Given the description of an element on the screen output the (x, y) to click on. 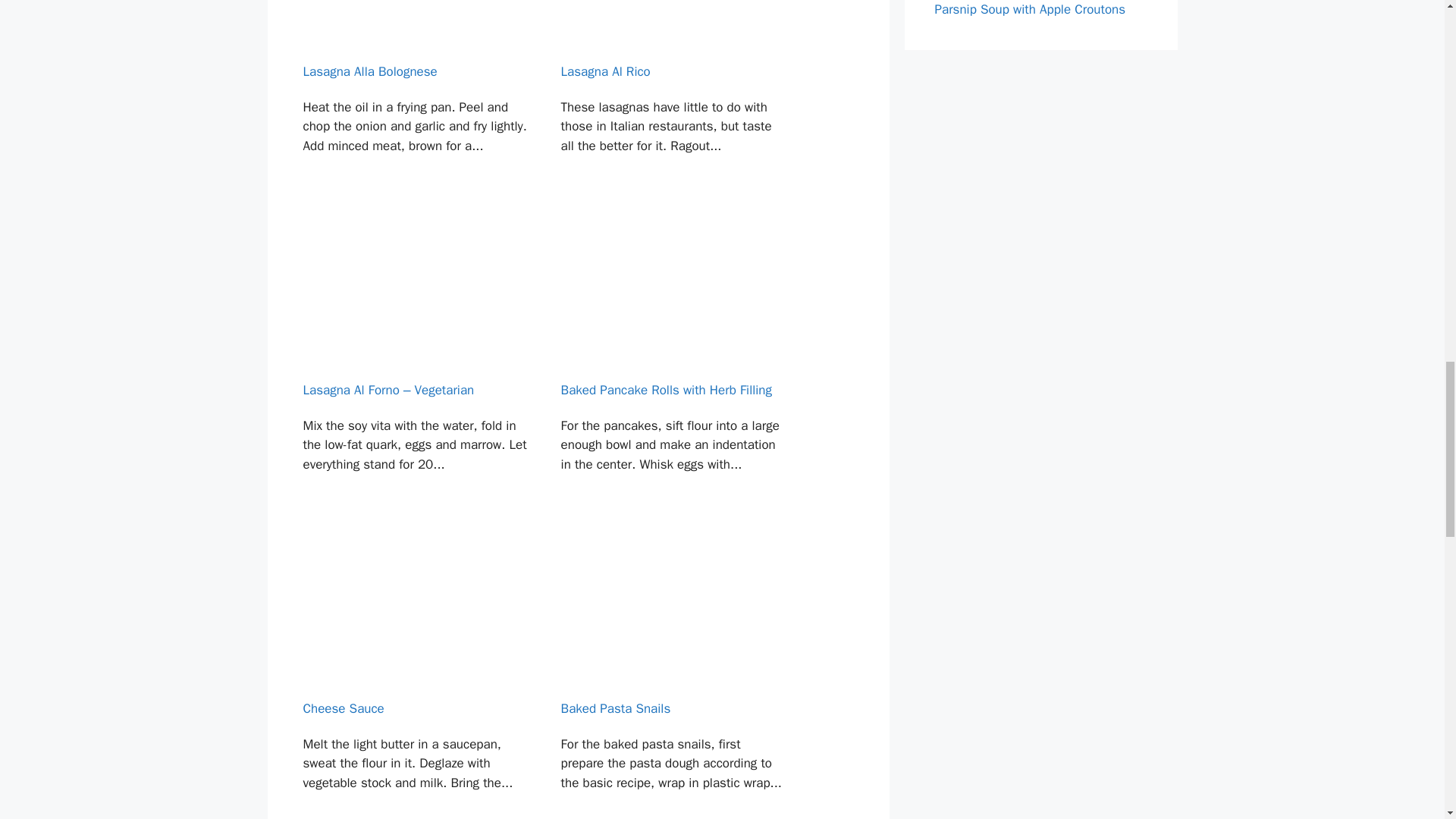
Lasagna Al Rico (673, 103)
Lasagna Alla Bolognese (414, 103)
